Given the description of an element on the screen output the (x, y) to click on. 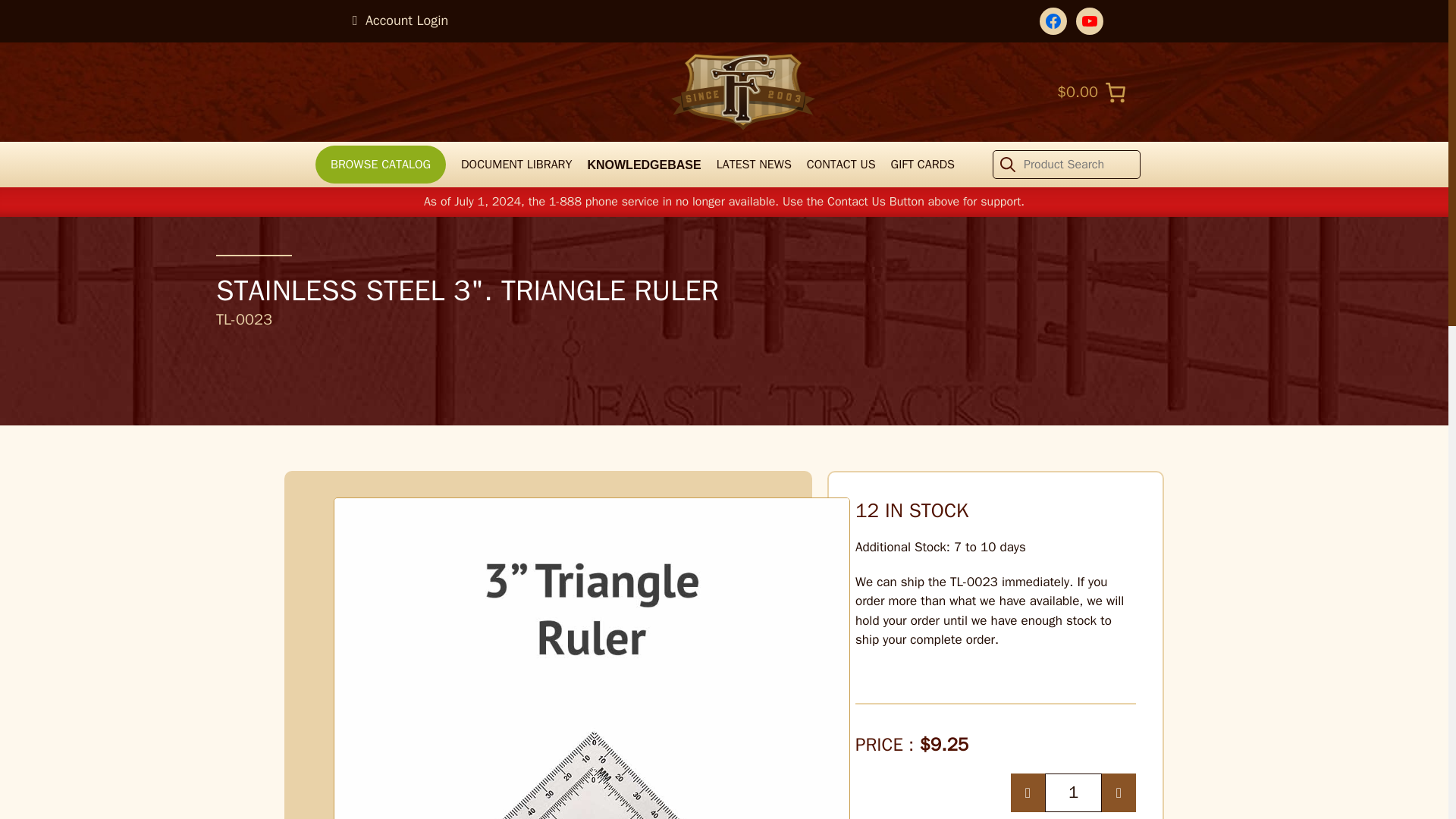
DOCUMENT LIBRARY (516, 163)
YouTube (1089, 21)
LATEST NEWS (754, 163)
Facebook (1053, 21)
Qty (1073, 792)
CONTACT US (841, 163)
GIFT CARDS (923, 163)
KNOWLEDGEBASE (643, 164)
1 (1073, 792)
Account Login (400, 20)
